Given the description of an element on the screen output the (x, y) to click on. 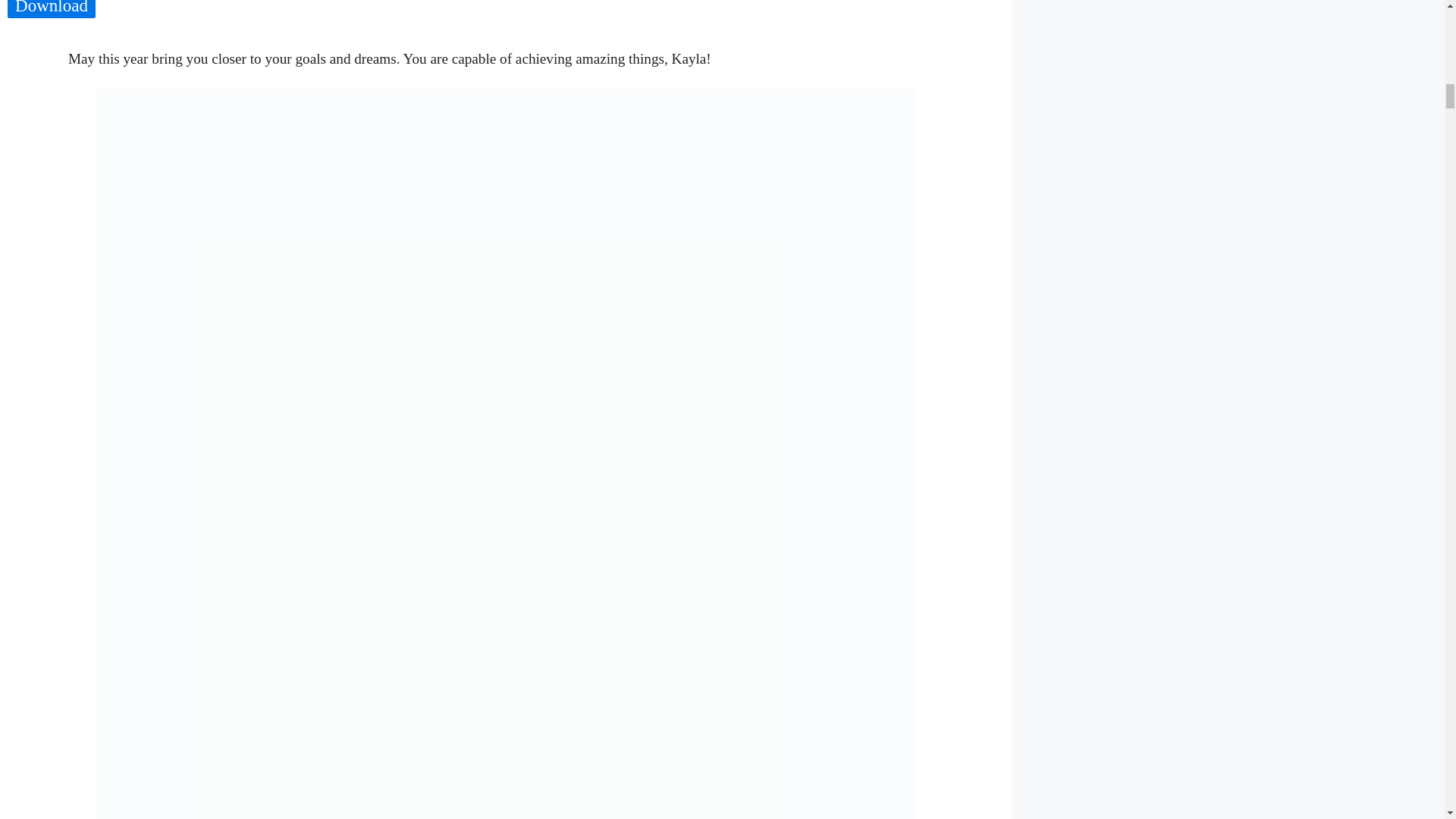
Download (51, 9)
Download (51, 7)
